Given the description of an element on the screen output the (x, y) to click on. 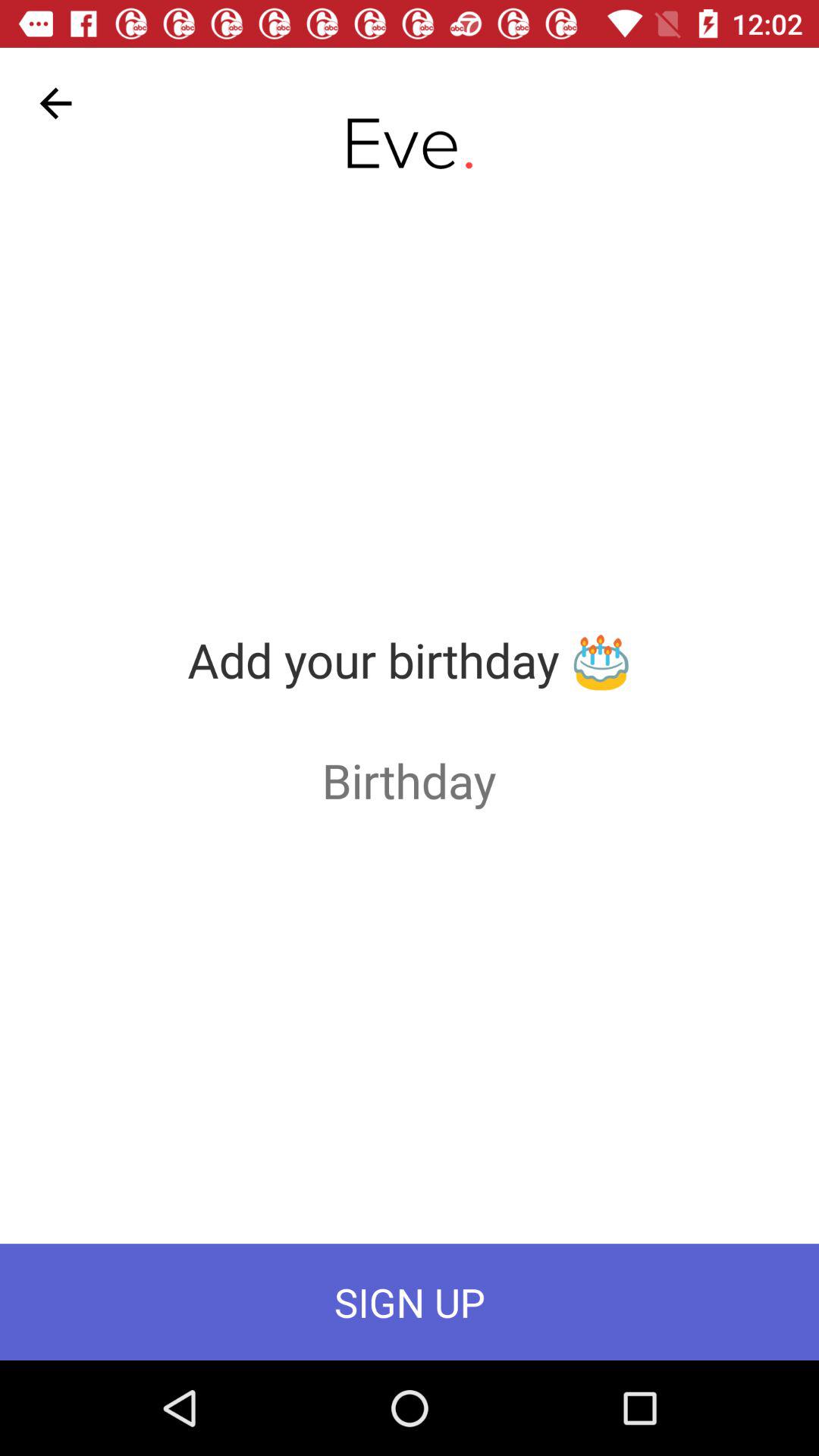
enter the words (408, 780)
